Given the description of an element on the screen output the (x, y) to click on. 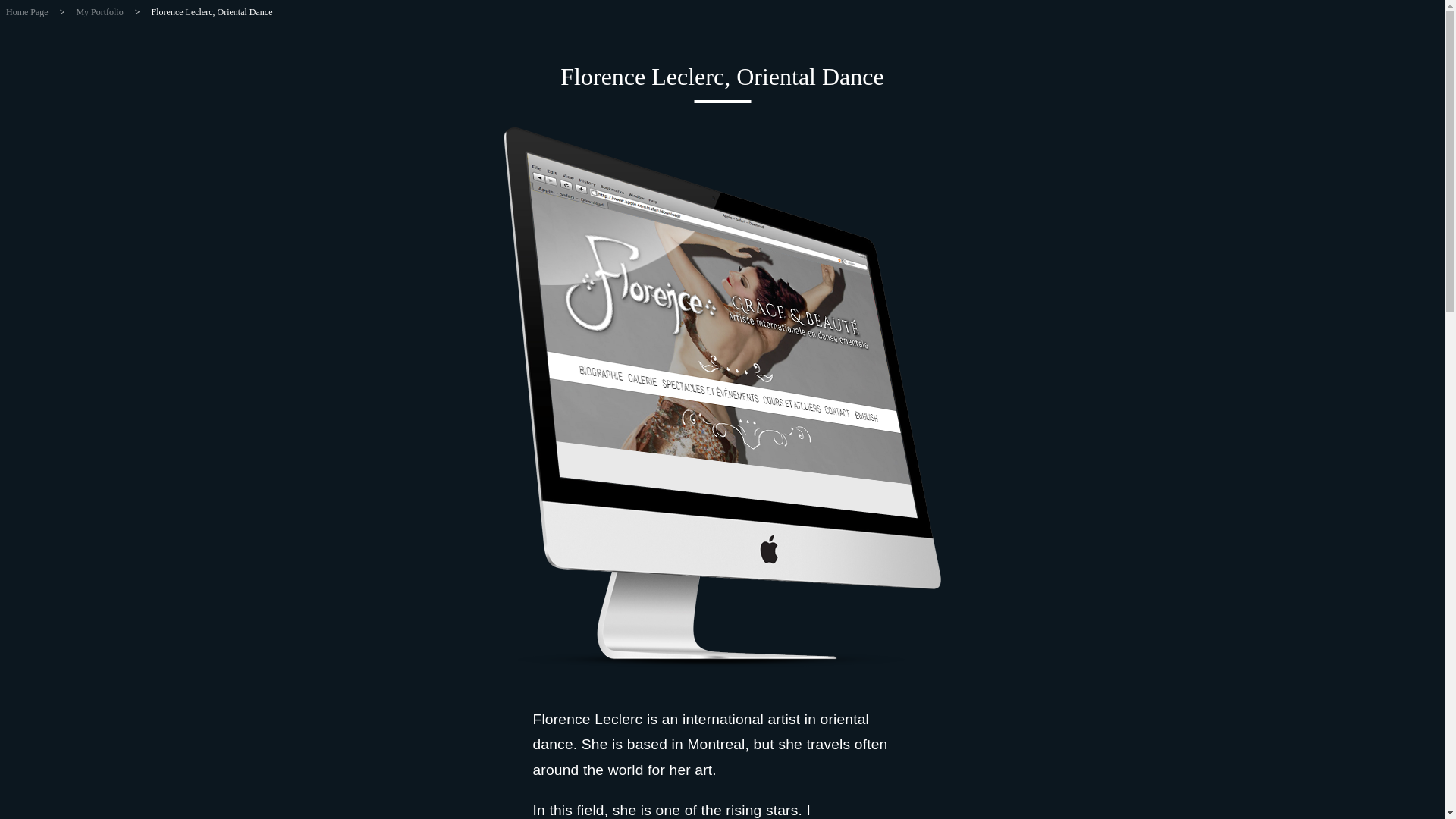
My Portfolio (99, 11)
Home Page (31, 11)
